Given the description of an element on the screen output the (x, y) to click on. 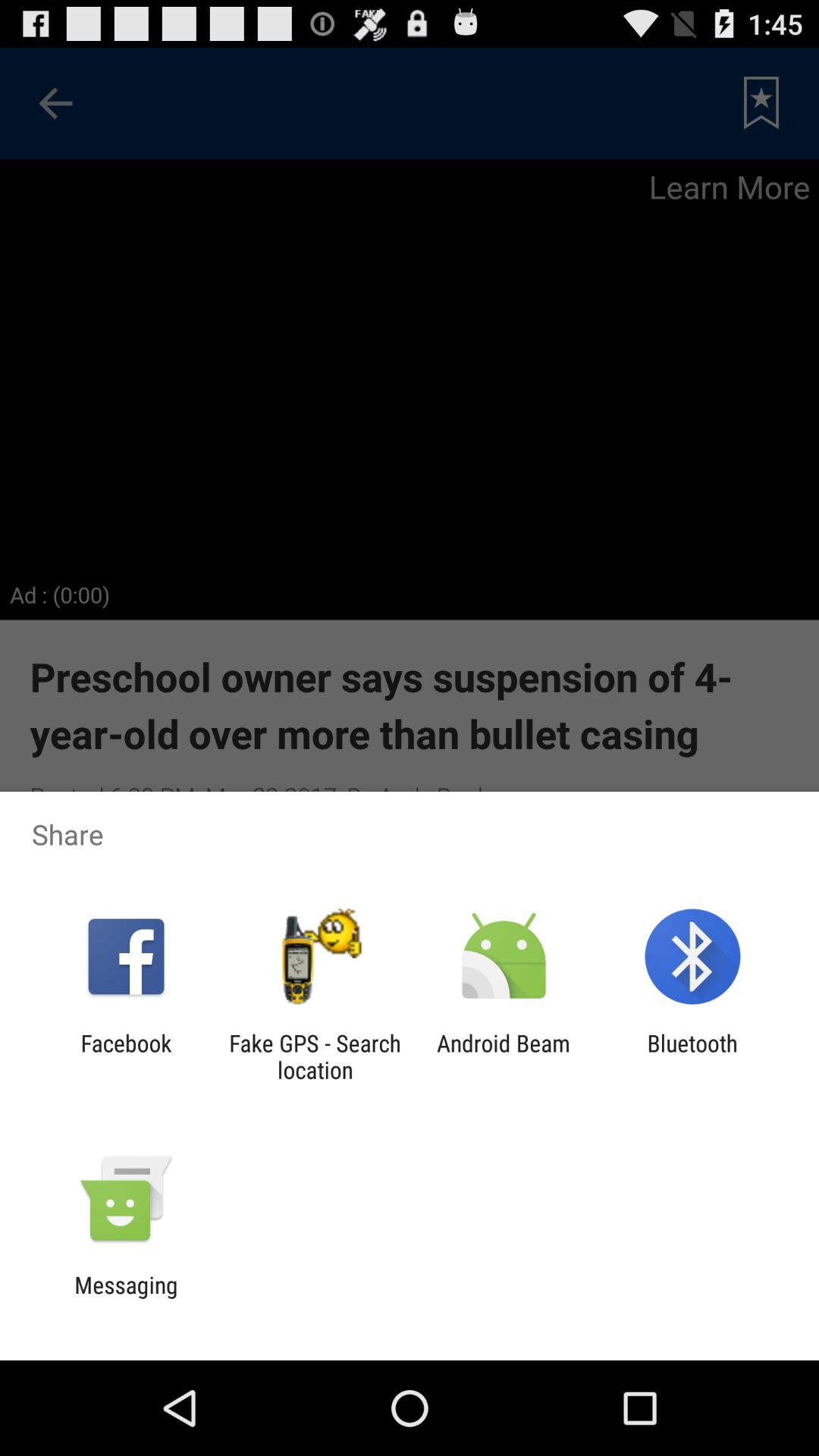
choose the item next to android beam icon (314, 1056)
